Given the description of an element on the screen output the (x, y) to click on. 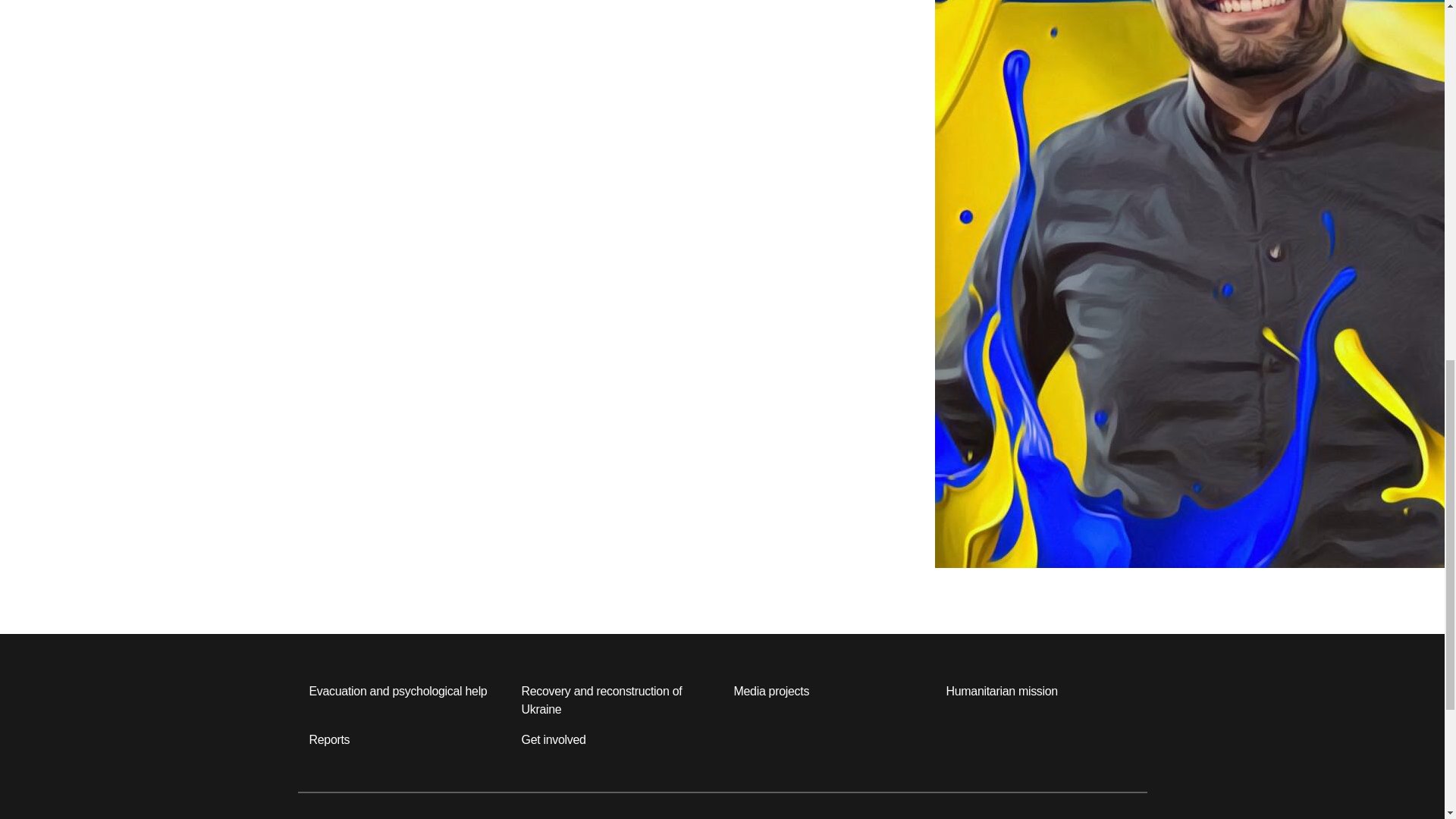
Recovery and reconstruction of Ukraine (616, 700)
Reports (329, 740)
Evacuation and psychological help (397, 691)
Humanitarian mission (1002, 691)
Media projects (771, 691)
Get involved (553, 740)
